Given the description of an element on the screen output the (x, y) to click on. 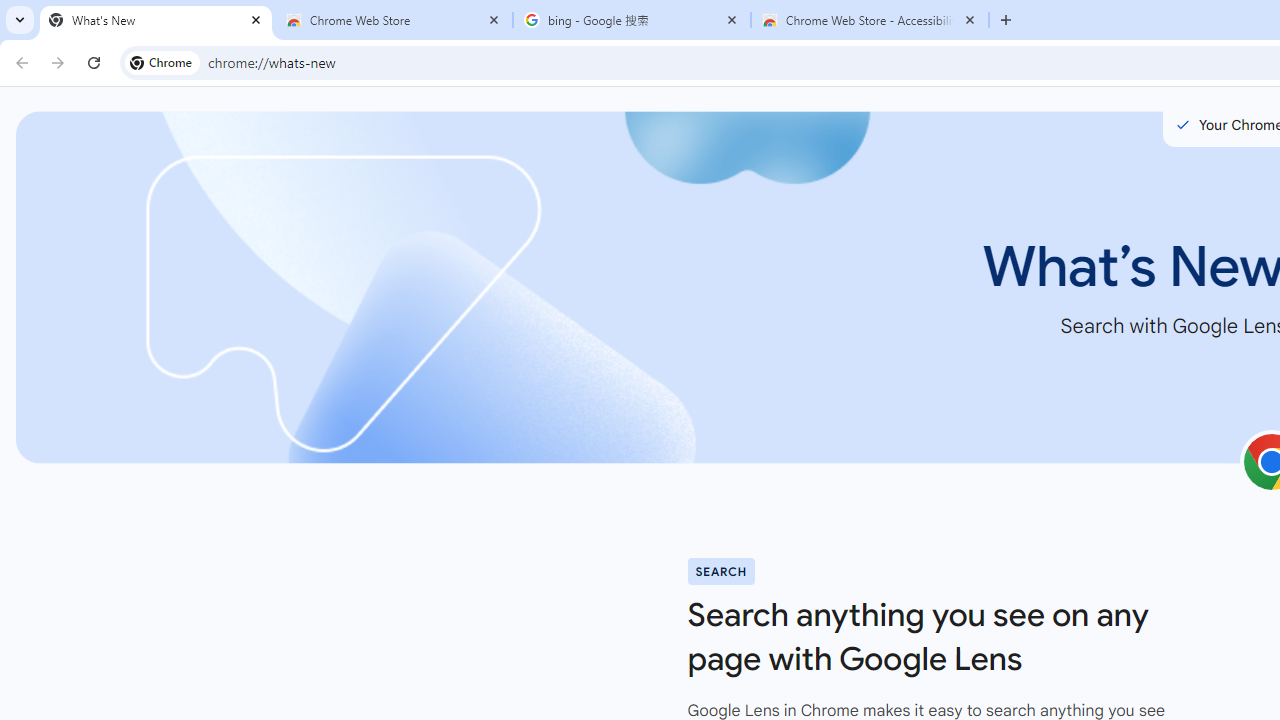
Chrome Web Store - Accessibility (870, 20)
What's New (156, 20)
Chrome Web Store (394, 20)
